Given the description of an element on the screen output the (x, y) to click on. 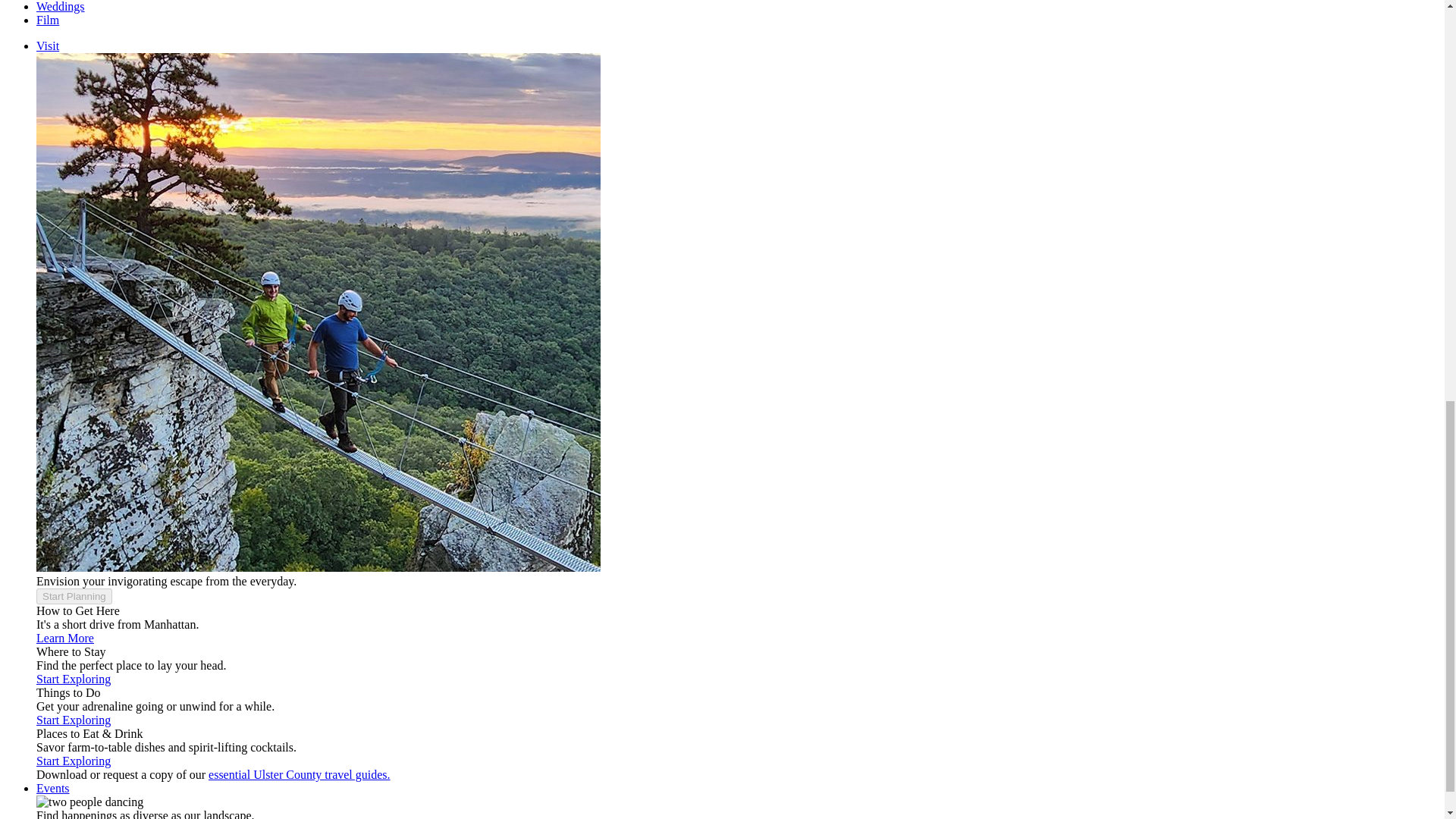
essential Ulster County travel guides. (299, 774)
Start Exploring (73, 760)
Start Exploring (73, 719)
Visit (47, 45)
Start Planning (74, 596)
Learn More (65, 637)
Events (52, 788)
Start Planning (74, 594)
Start Exploring (73, 678)
Weddings (60, 6)
Film (47, 19)
